Given the description of an element on the screen output the (x, y) to click on. 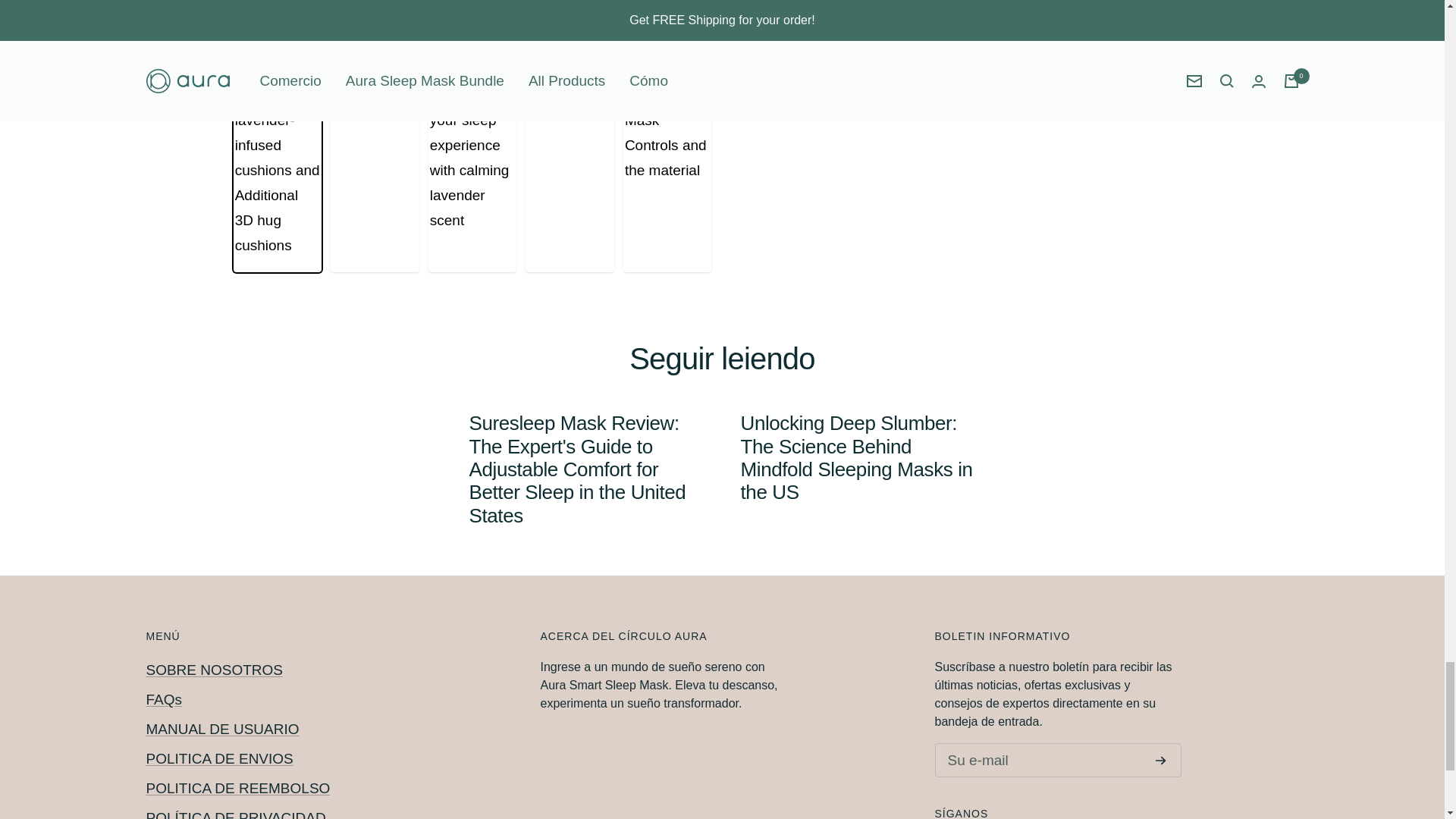
Registrarse (1161, 759)
